Given the description of an element on the screen output the (x, y) to click on. 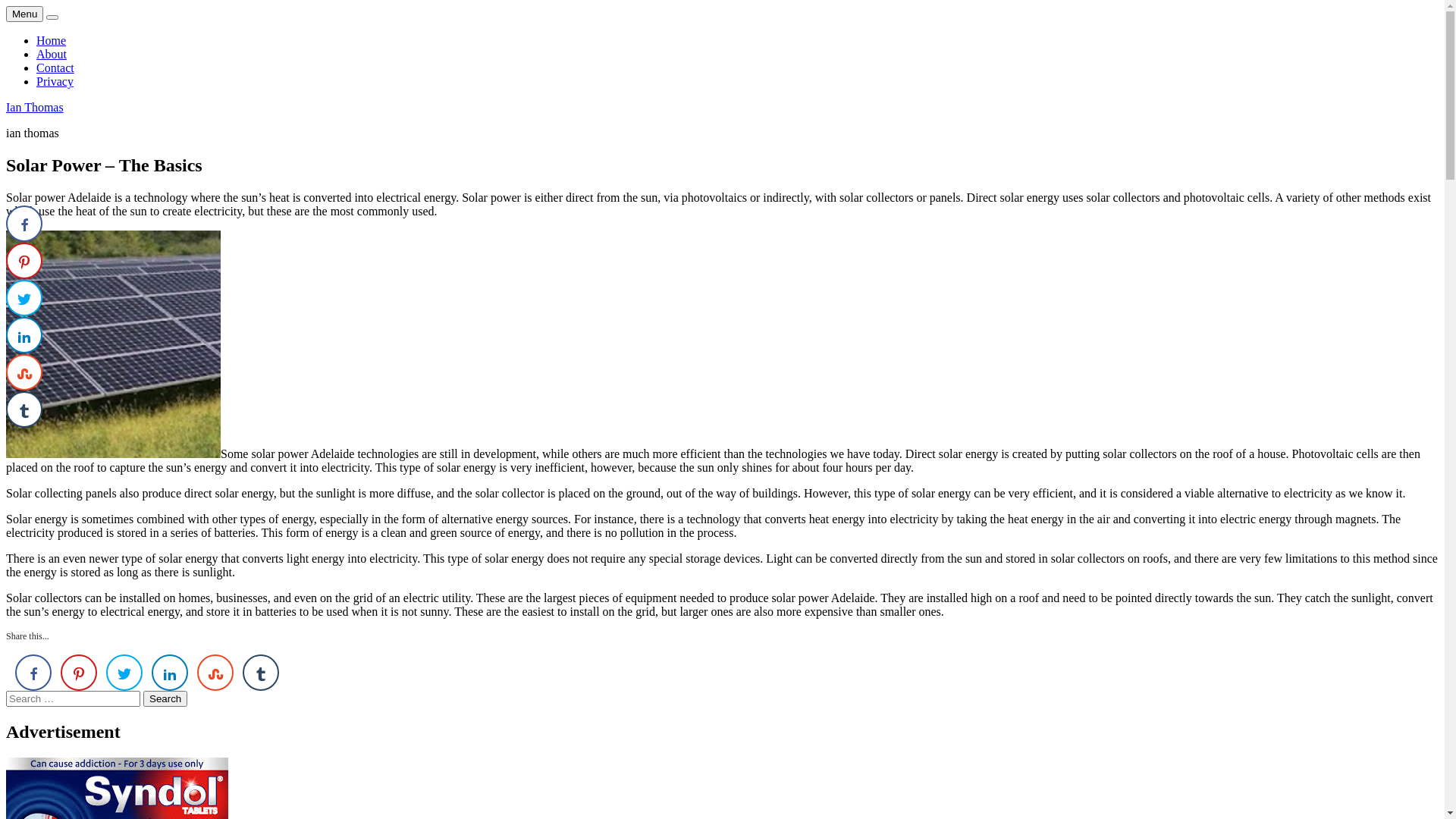
Home Element type: text (50, 40)
Contact Element type: text (55, 67)
About Element type: text (51, 53)
Search Element type: text (165, 698)
Menu Element type: text (24, 13)
Privacy Element type: text (54, 81)
Ian Thomas Element type: text (34, 106)
Search Element type: text (52, 17)
